Given the description of an element on the screen output the (x, y) to click on. 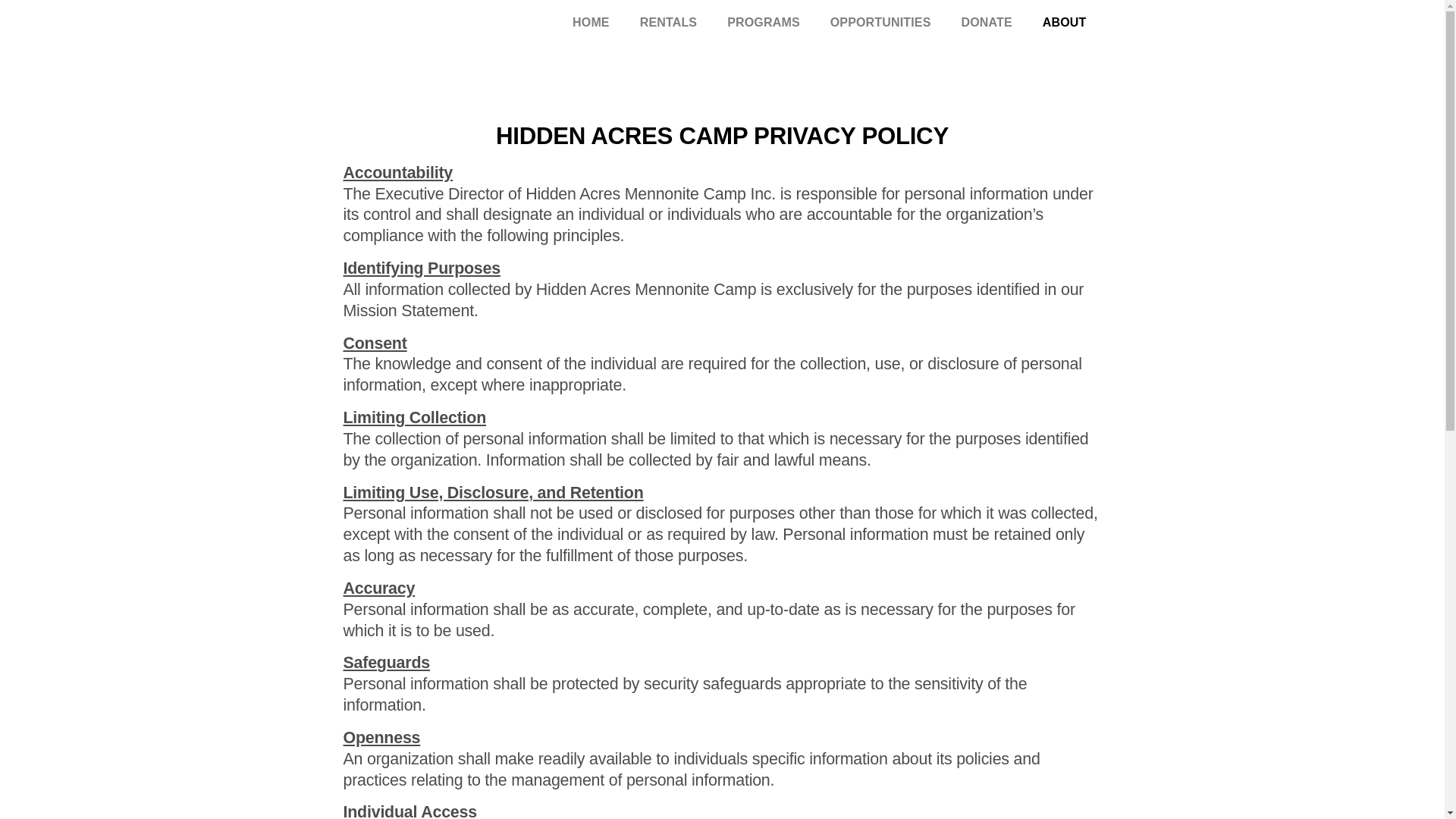
HOME (590, 22)
PROGRAMS (763, 22)
RENTALS (668, 22)
